Given the description of an element on the screen output the (x, y) to click on. 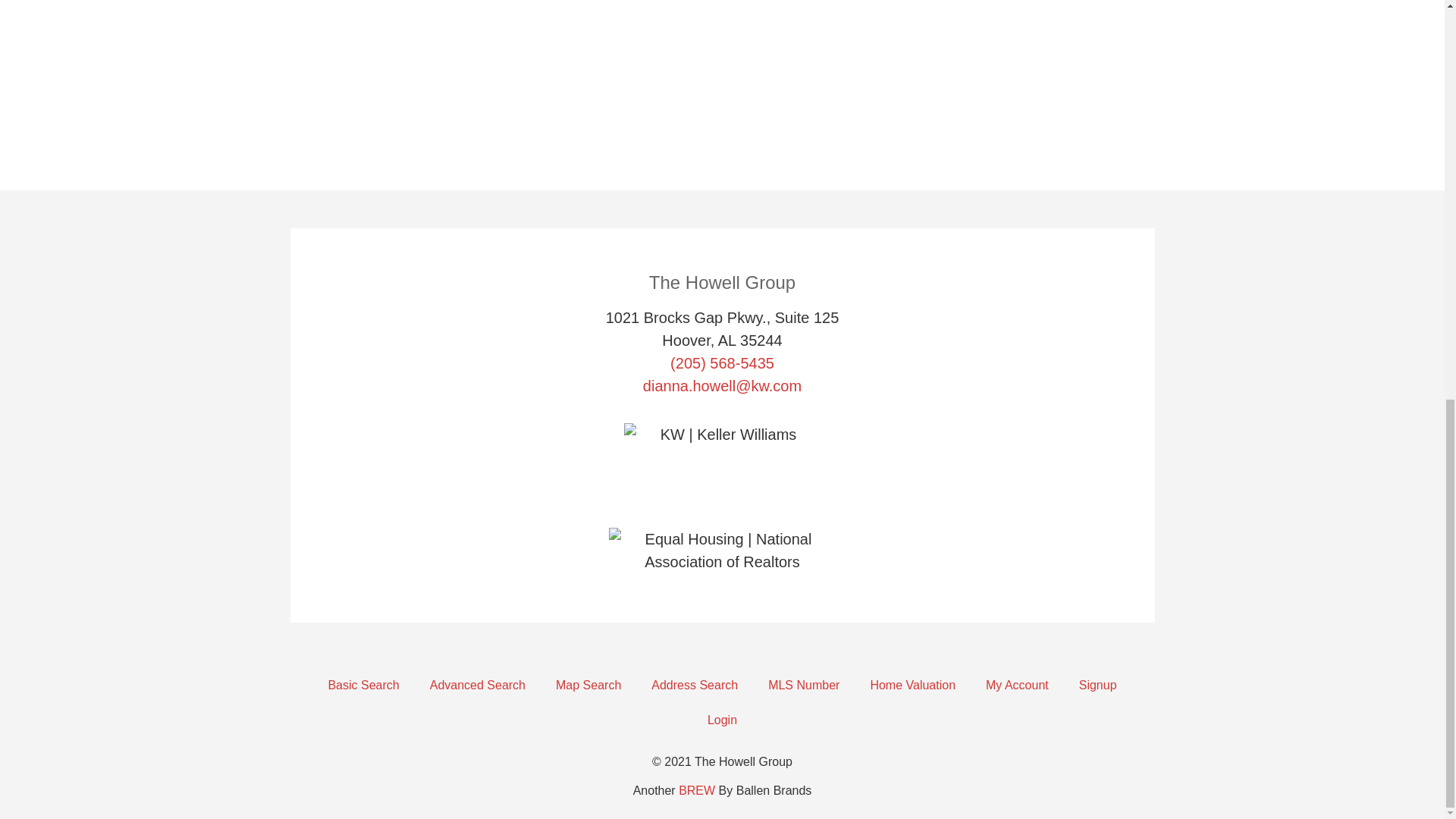
Login (722, 719)
My Account (1017, 685)
MLS Number (803, 685)
Map Search (588, 685)
Basic Search (363, 685)
Home Valuation (912, 685)
Signup (1098, 685)
Address Search (694, 685)
Advanced Search (477, 685)
